Given the description of an element on the screen output the (x, y) to click on. 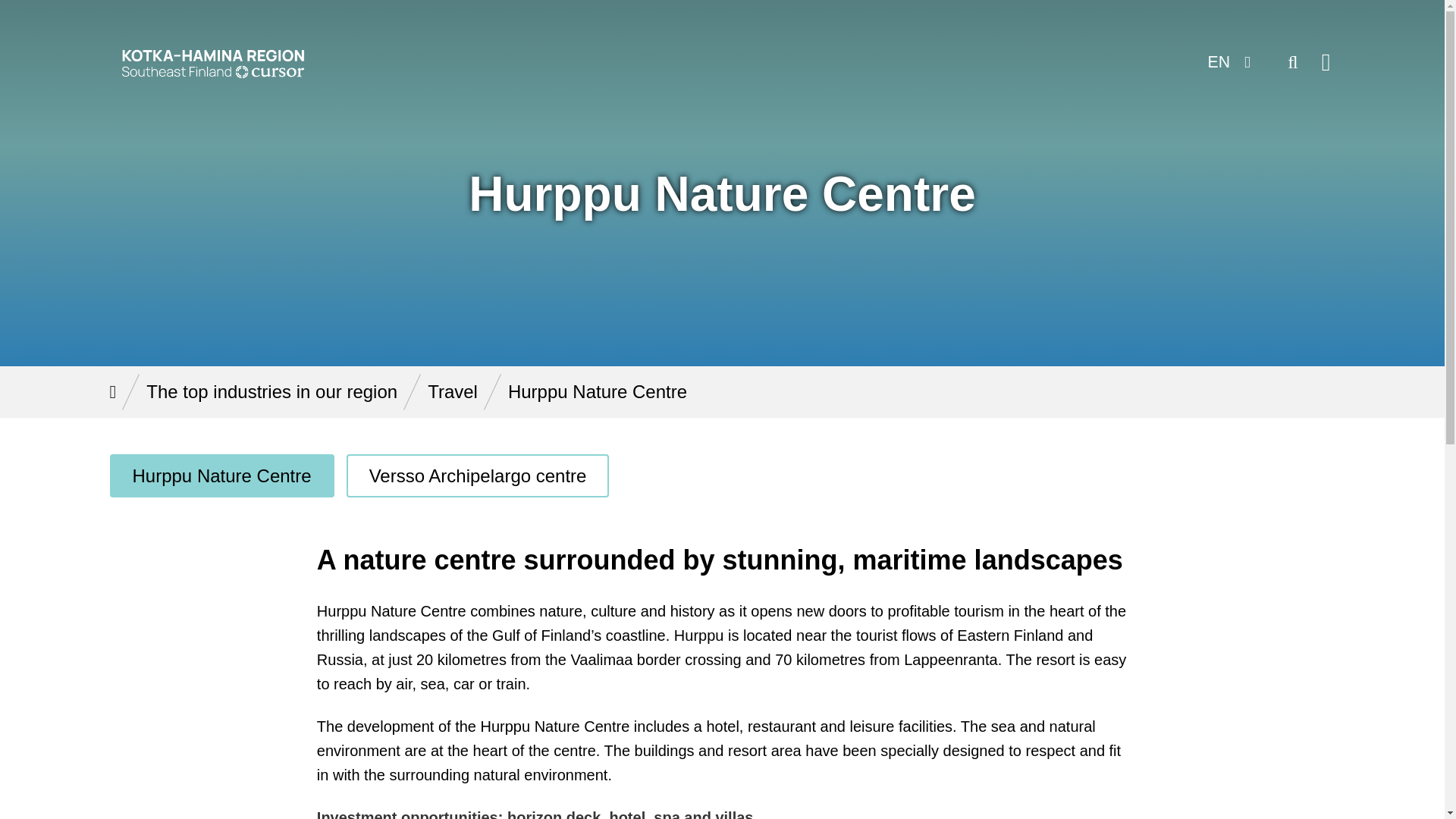
Search (1292, 62)
Versso Archipelargo centre (478, 475)
The top industries in our region (272, 391)
Travel (452, 391)
EN (1227, 62)
Hurppu Nature Centre (221, 475)
